Given the description of an element on the screen output the (x, y) to click on. 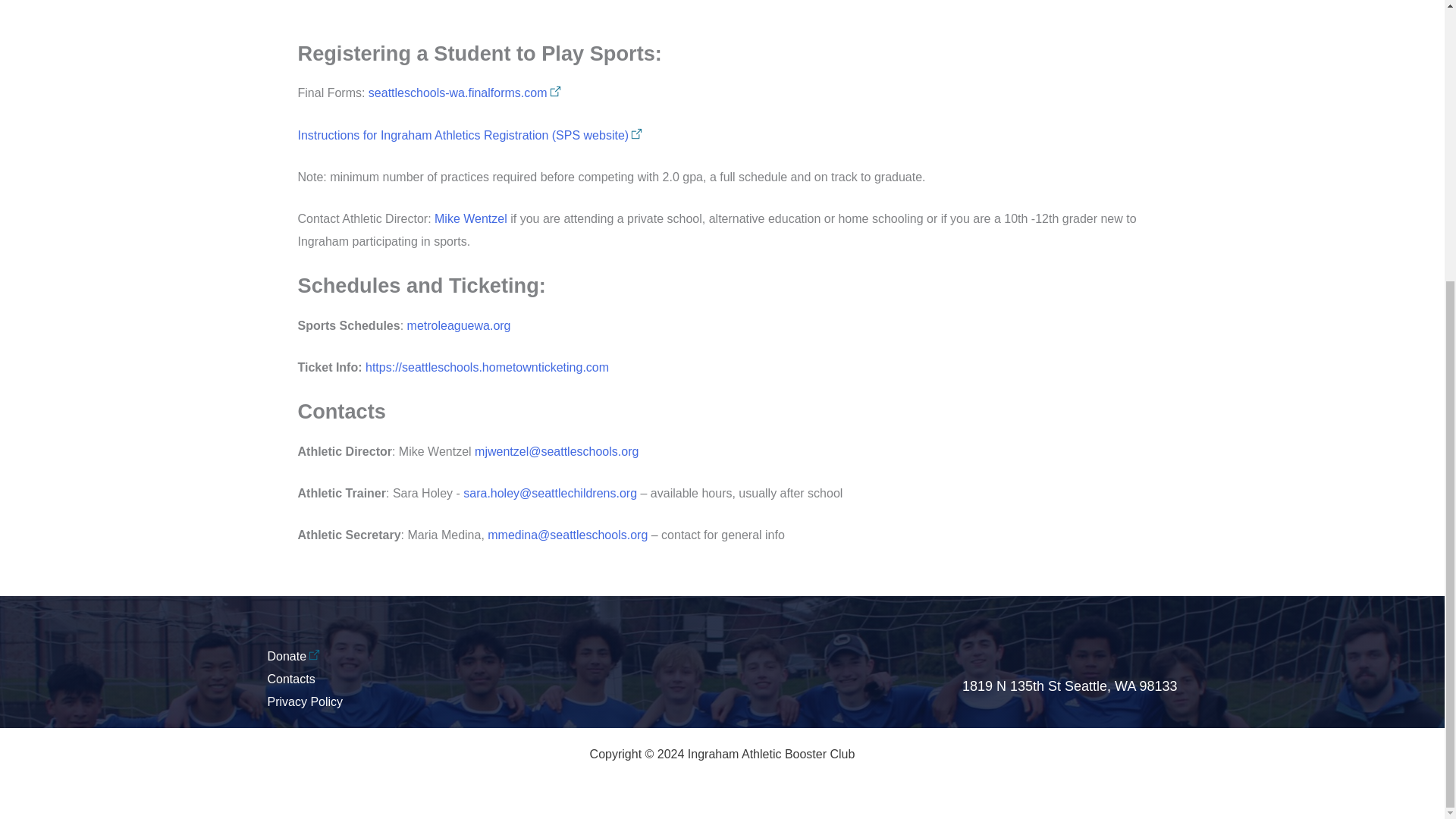
Mike Wentzel (469, 218)
metroleaguewa.org (459, 325)
seattleschools-wa.finalforms.com (465, 92)
Privacy Policy (304, 701)
Contacts (290, 678)
Donate (293, 656)
